Given the description of an element on the screen output the (x, y) to click on. 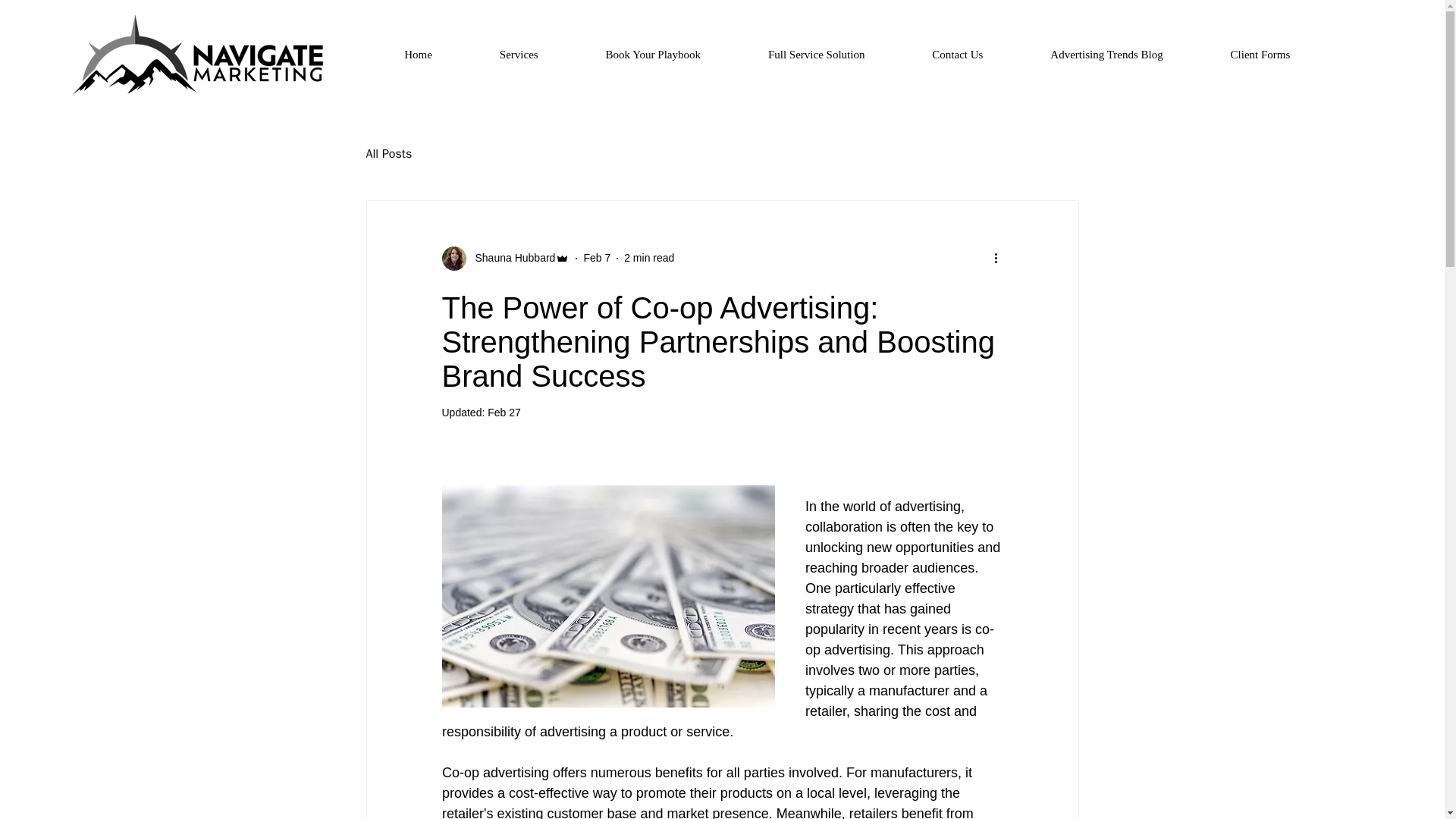
Feb 27 (504, 412)
Shauna Hubbard (509, 258)
Home (418, 54)
Contact Us (957, 54)
2 min read (649, 257)
Feb 7 (596, 257)
Client Forms (1259, 54)
All Posts (388, 154)
Advertising Trends Blog (1106, 54)
Book Your Playbook (652, 54)
Services (518, 54)
Full Service Solution (815, 54)
